Given the description of an element on the screen output the (x, y) to click on. 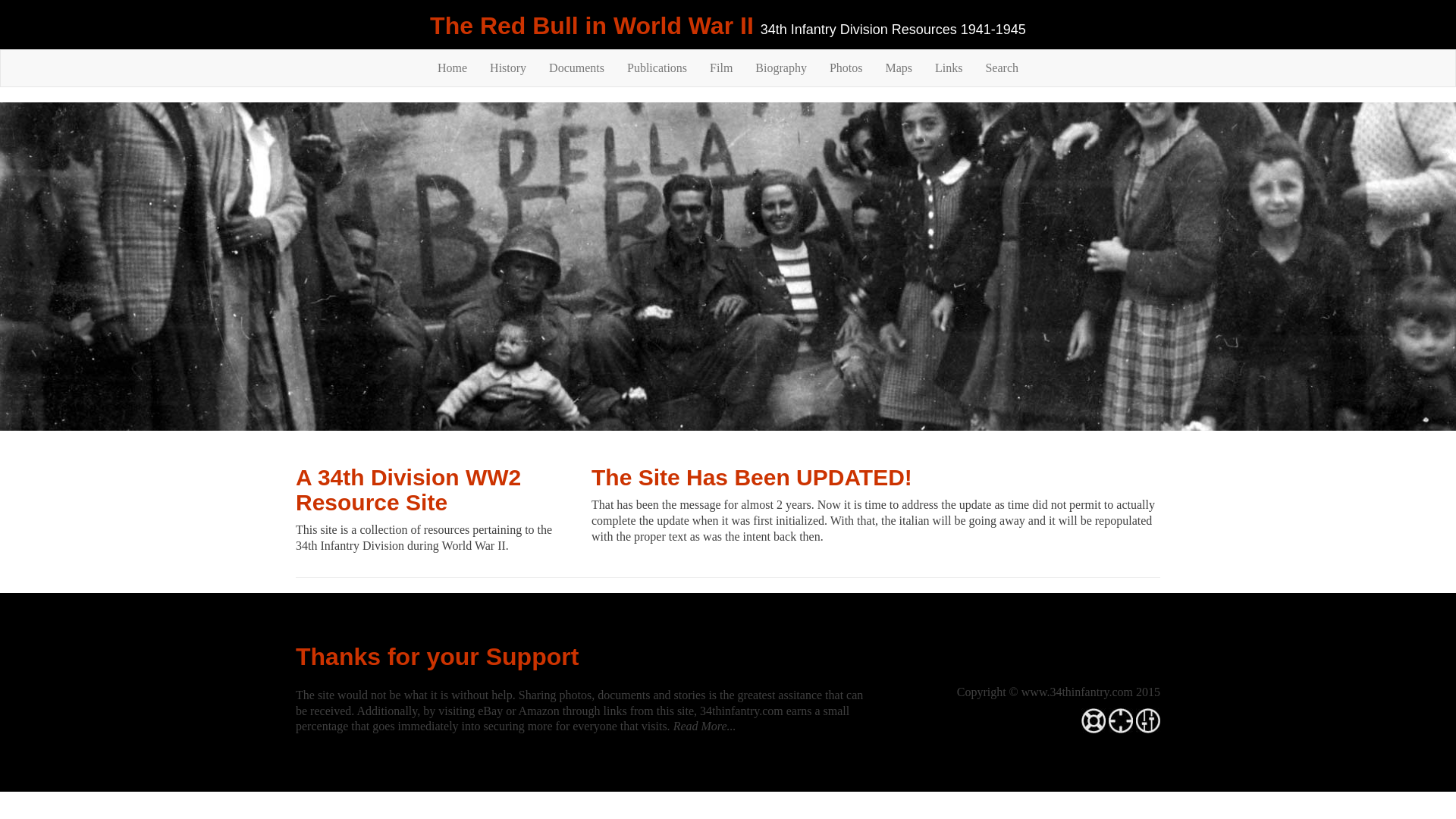
Documents Element type: text (576, 68)
Photos Element type: text (846, 68)
eBay Element type: text (489, 710)
Read More... Element type: text (704, 725)
Maps Element type: text (898, 68)
Film Element type: text (720, 68)
Home Element type: text (452, 68)
History Element type: text (507, 68)
Publications Element type: text (656, 68)
Biography Element type: text (780, 68)
Amazon Element type: text (538, 710)
Links Element type: text (948, 68)
Search Element type: text (1001, 68)
